Given the description of an element on the screen output the (x, y) to click on. 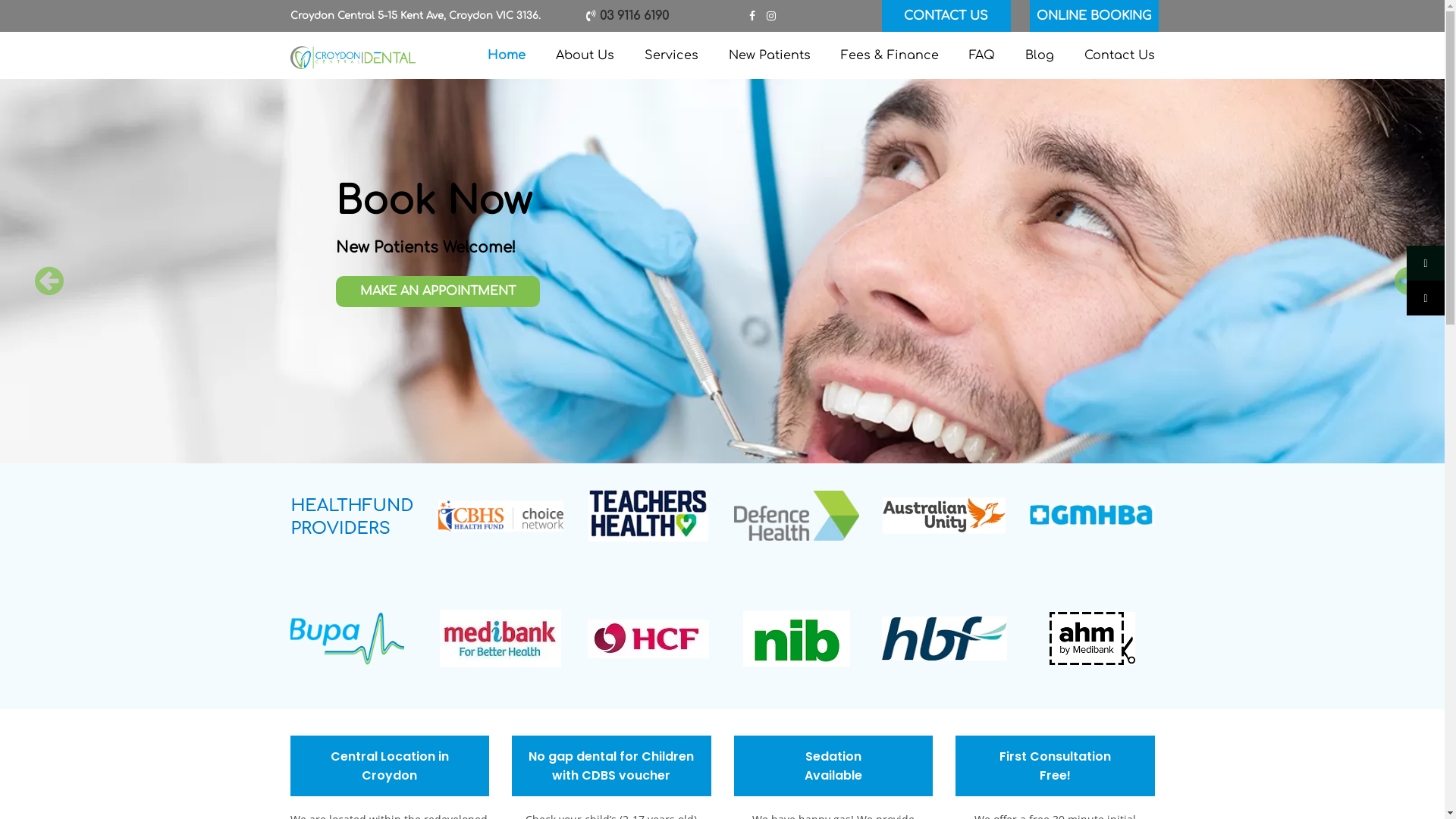
ONLINE BOOKING Element type: text (1093, 15)
Fees & Finance Element type: text (889, 55)
CONTACT US Element type: text (945, 15)
New Patients Element type: text (768, 55)
About Us Element type: text (584, 55)
FAQ Element type: text (981, 55)
Home Element type: text (505, 55)
Contact Us Element type: text (1119, 55)
Blog Element type: text (1039, 55)
Previous Element type: text (42, 271)
Next Element type: text (1401, 271)
03 9116 6190 Element type: text (632, 15)
MAKE AN APPOINTMENT Element type: text (437, 332)
Services Element type: text (671, 55)
